Given the description of an element on the screen output the (x, y) to click on. 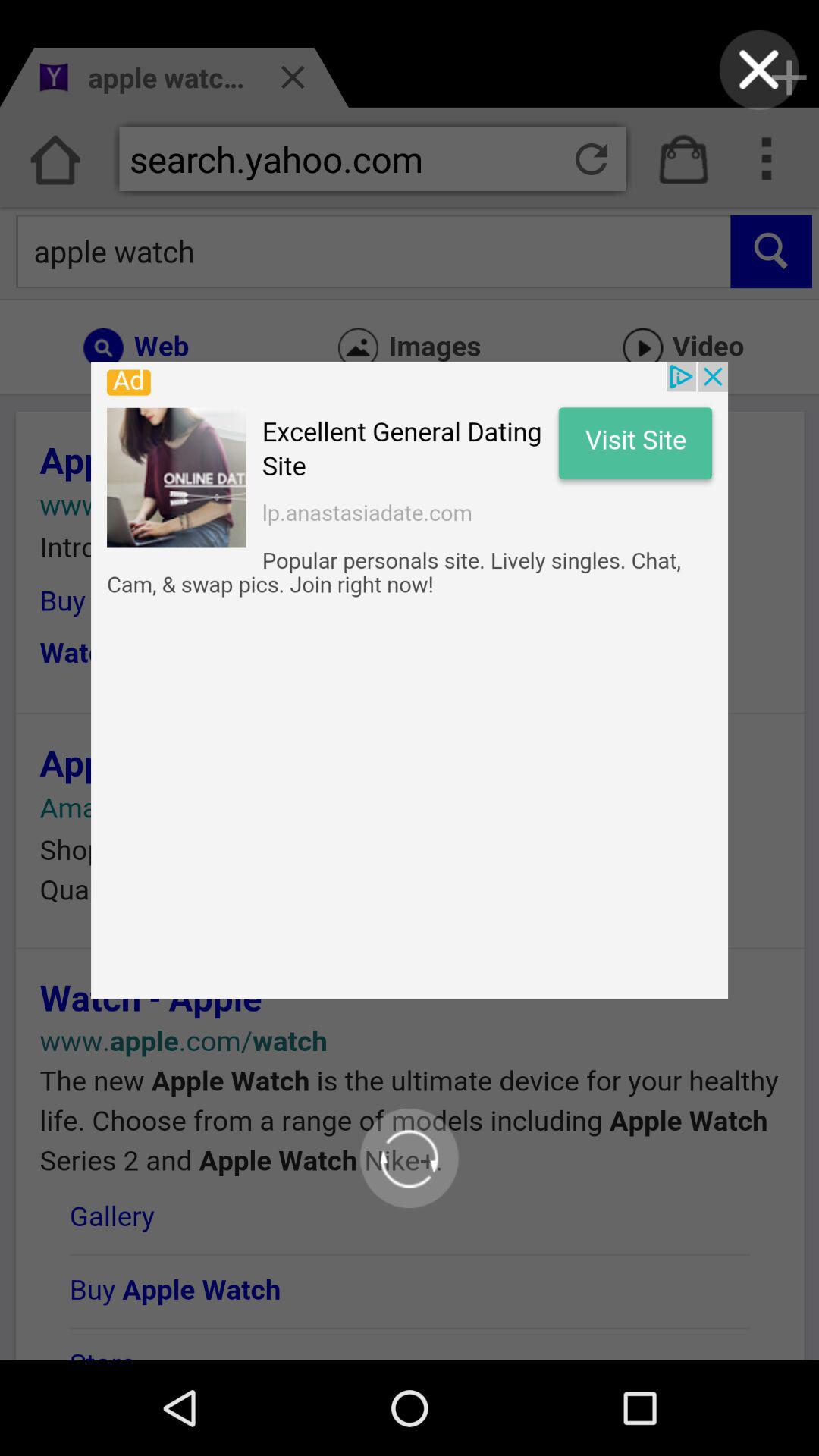
cancel button (759, 69)
